Given the description of an element on the screen output the (x, y) to click on. 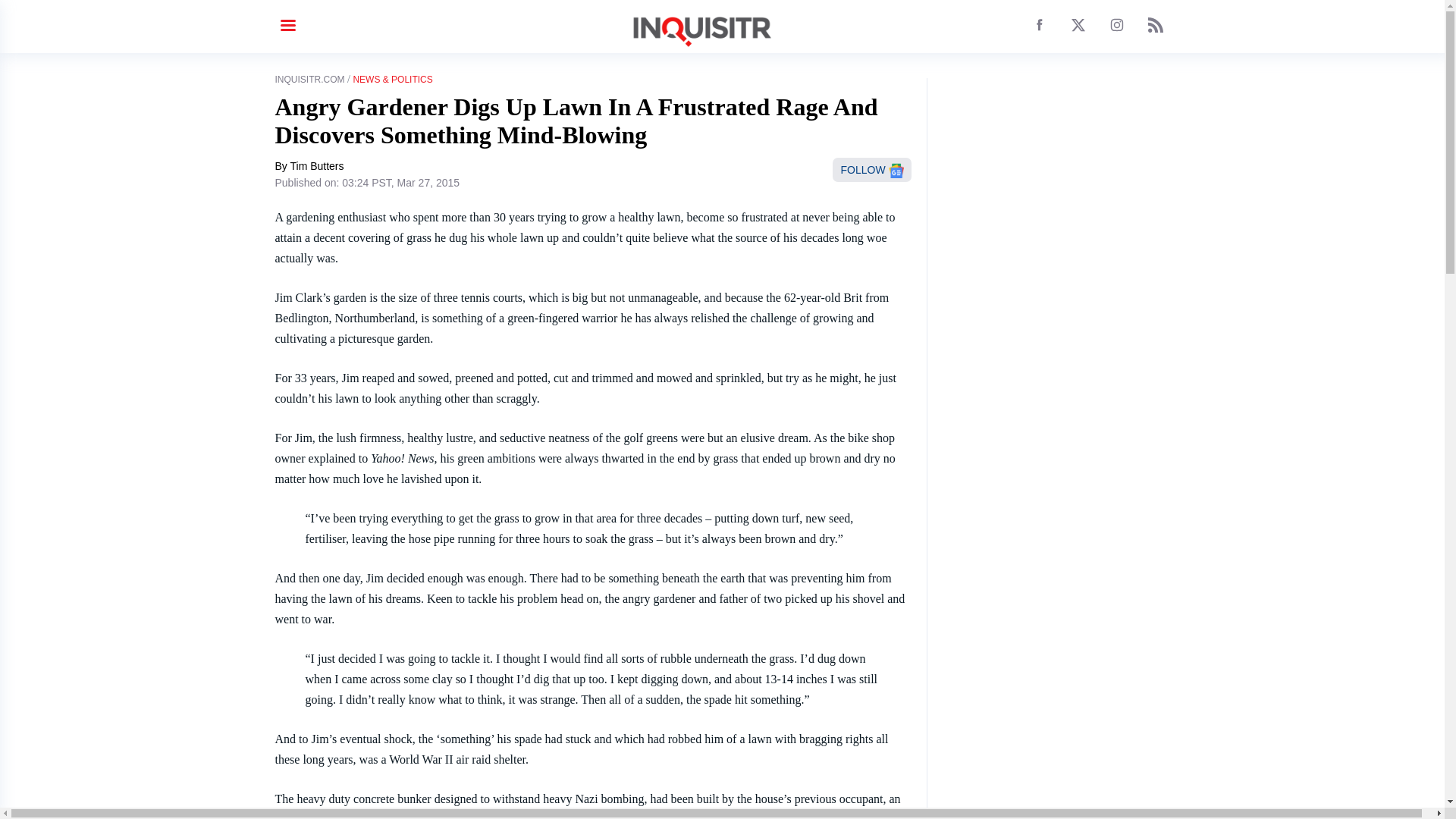
INQUISITR.COM (309, 79)
